Given the description of an element on the screen output the (x, y) to click on. 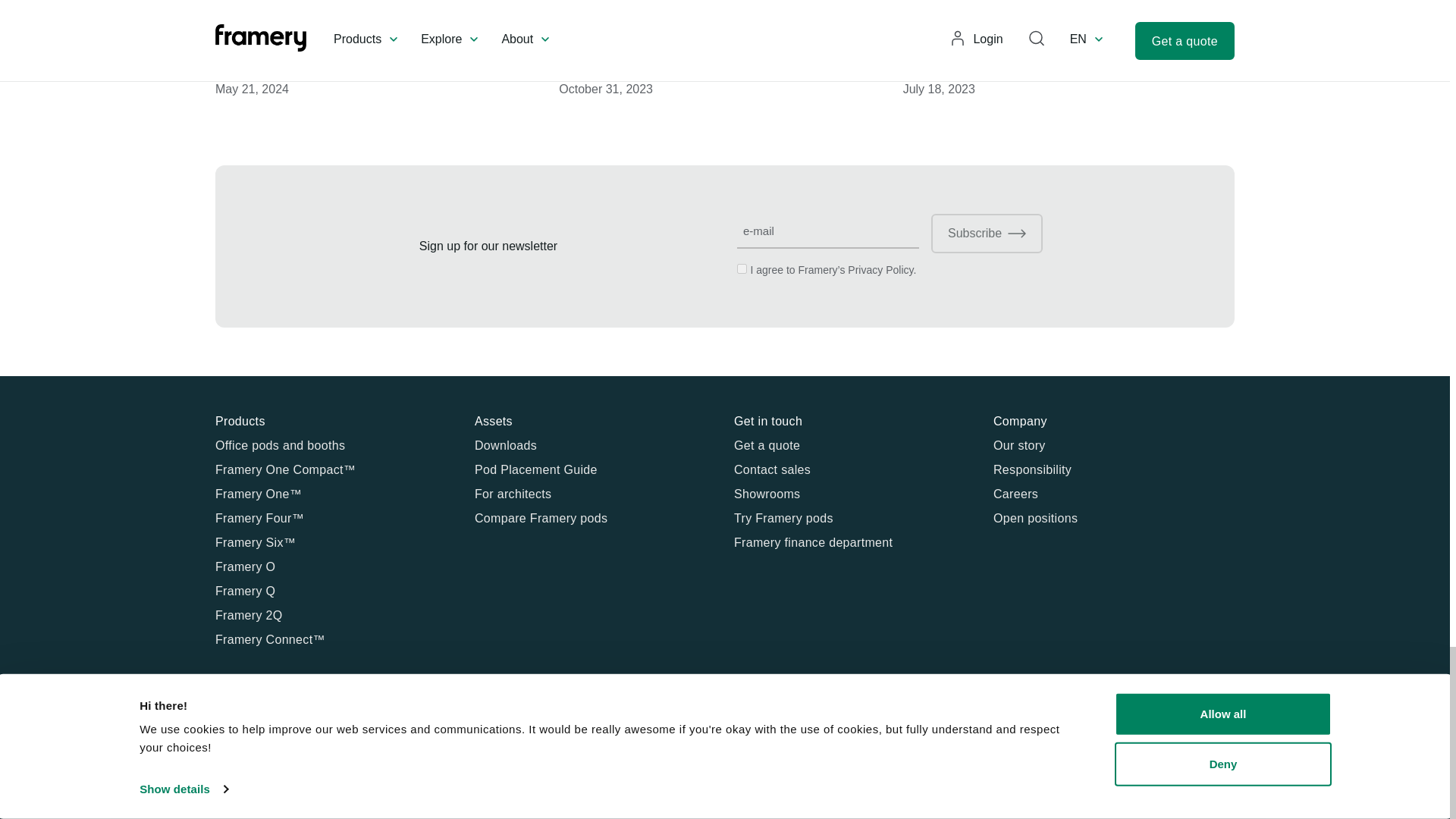
1 (741, 268)
